Given the description of an element on the screen output the (x, y) to click on. 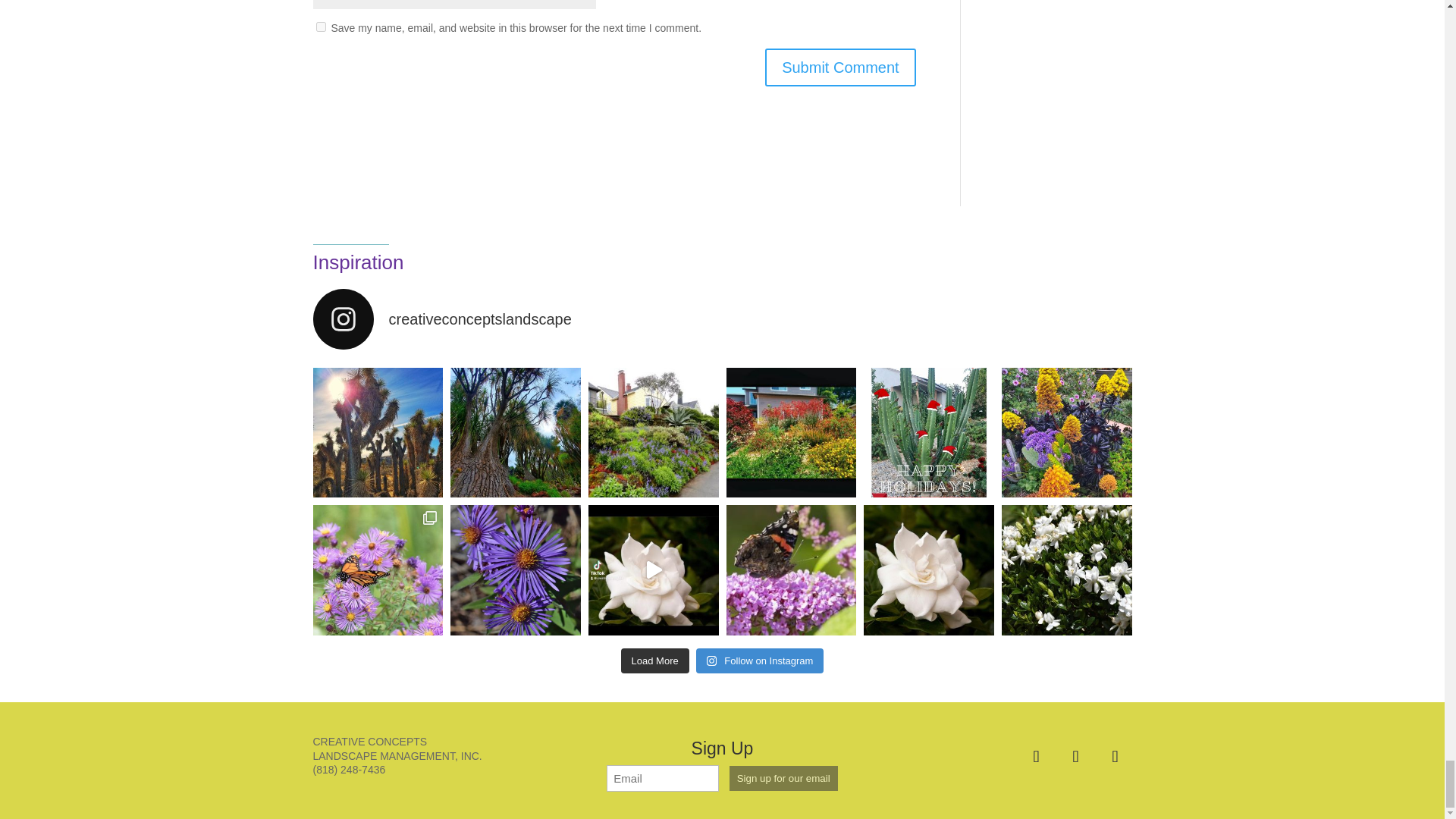
Follow on Facebook (1035, 756)
yes (319, 26)
Follow on Instagram (1075, 756)
Sign up for our email (783, 778)
Follow on Yelp (1114, 756)
Submit Comment (840, 67)
Submit Comment (840, 67)
